Given the description of an element on the screen output the (x, y) to click on. 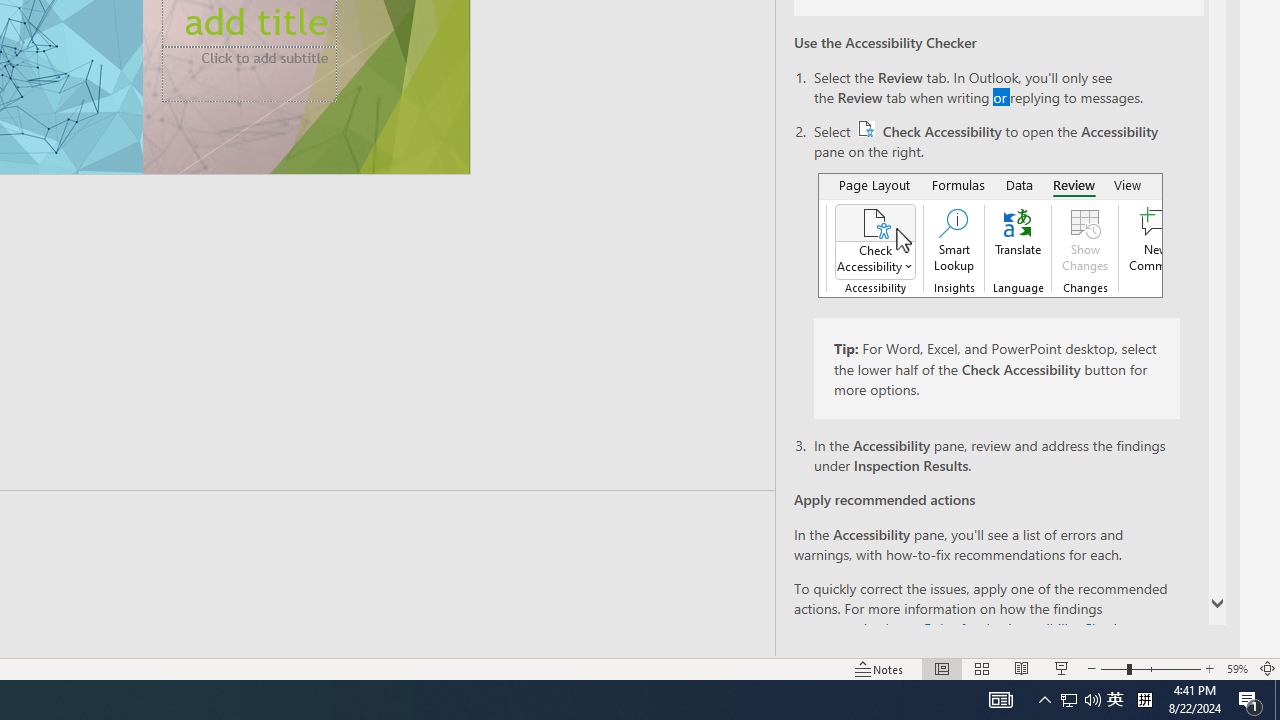
Accessibility checker button on ribbon (990, 235)
Check accessibility button (866, 128)
Zoom 59% (1236, 668)
Rules for the Accessibility Checker (1025, 628)
